Given the description of an element on the screen output the (x, y) to click on. 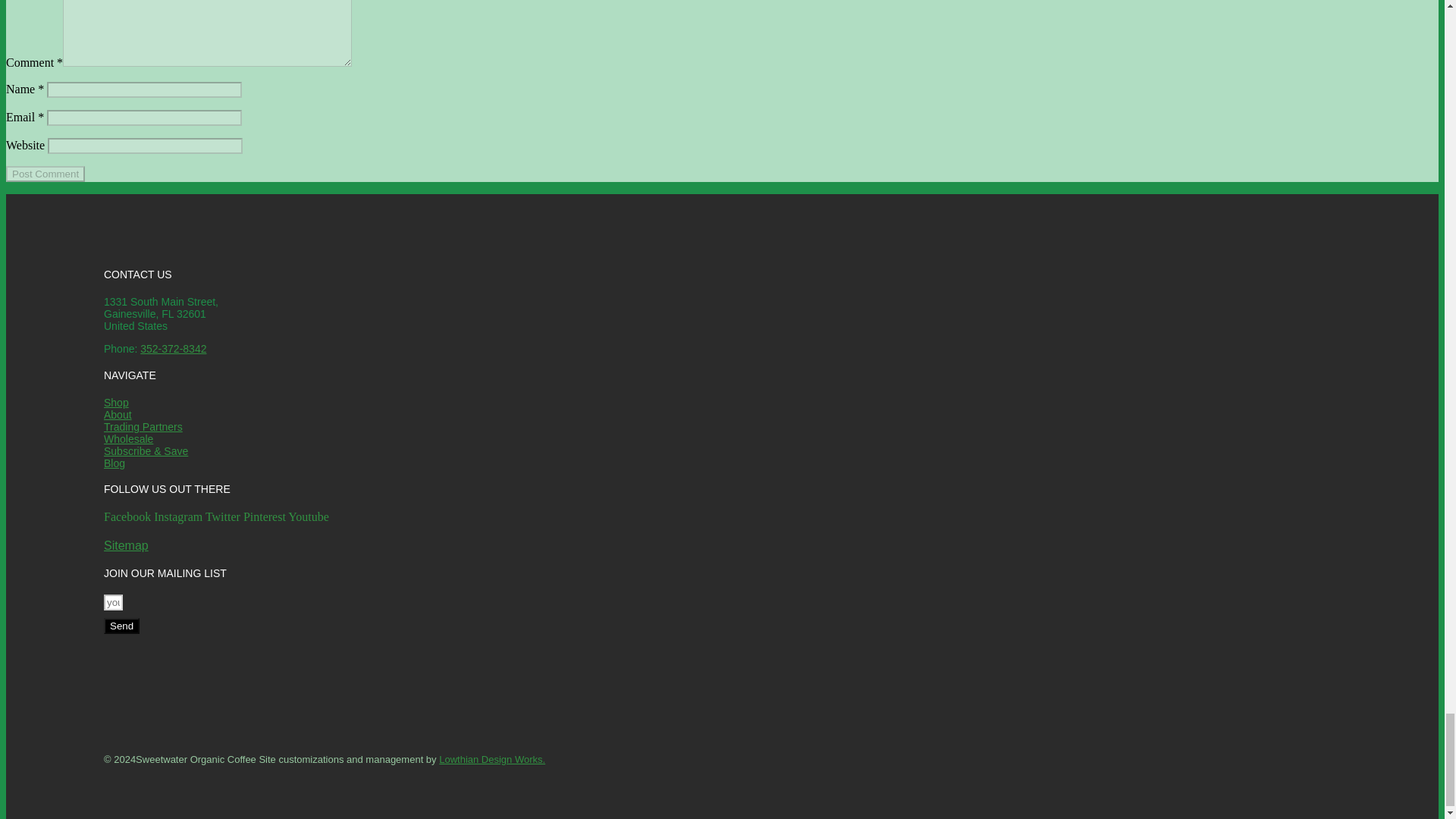
Post Comment (44, 173)
